Given the description of an element on the screen output the (x, y) to click on. 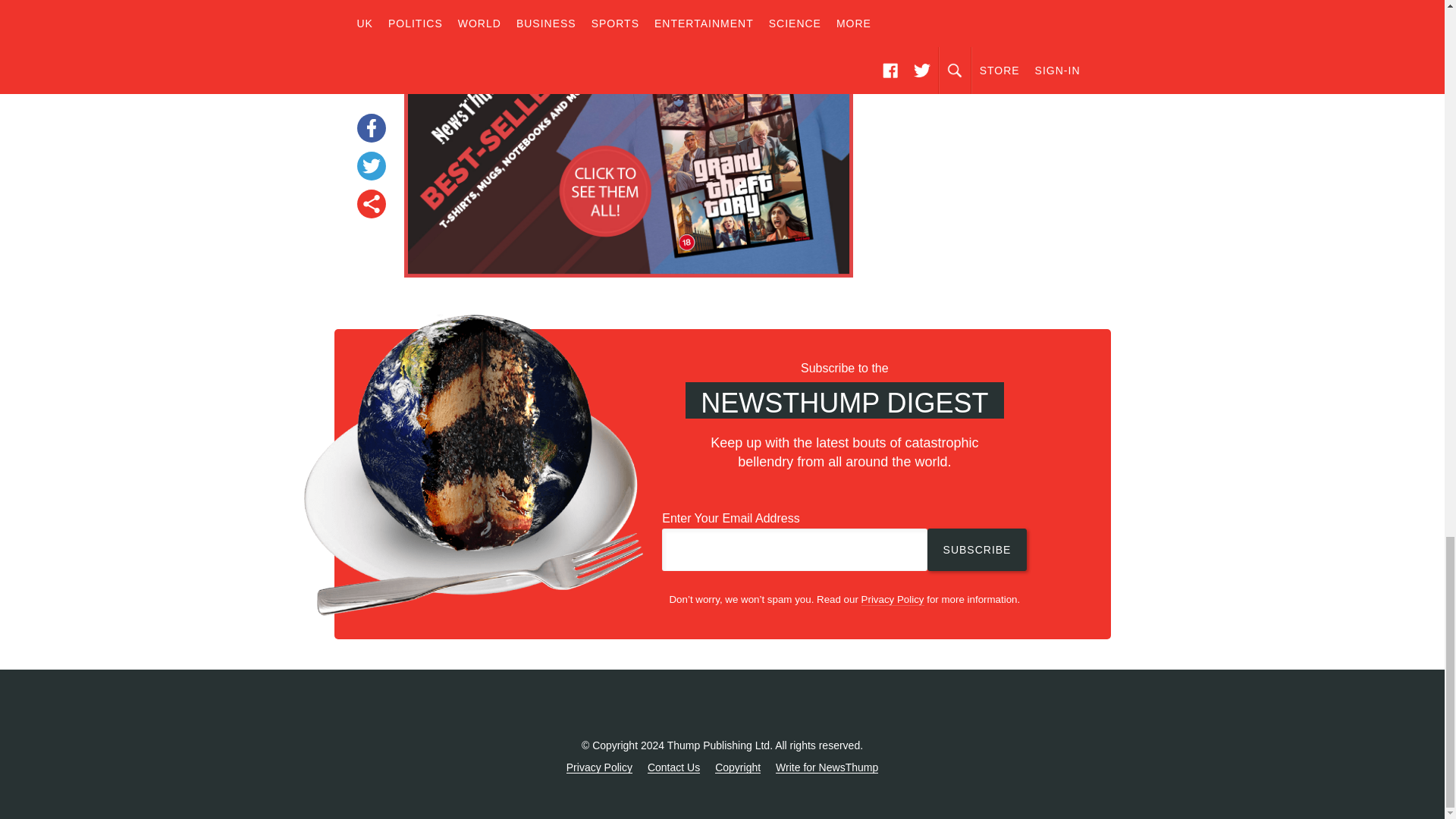
Subscribe (977, 549)
